Given the description of an element on the screen output the (x, y) to click on. 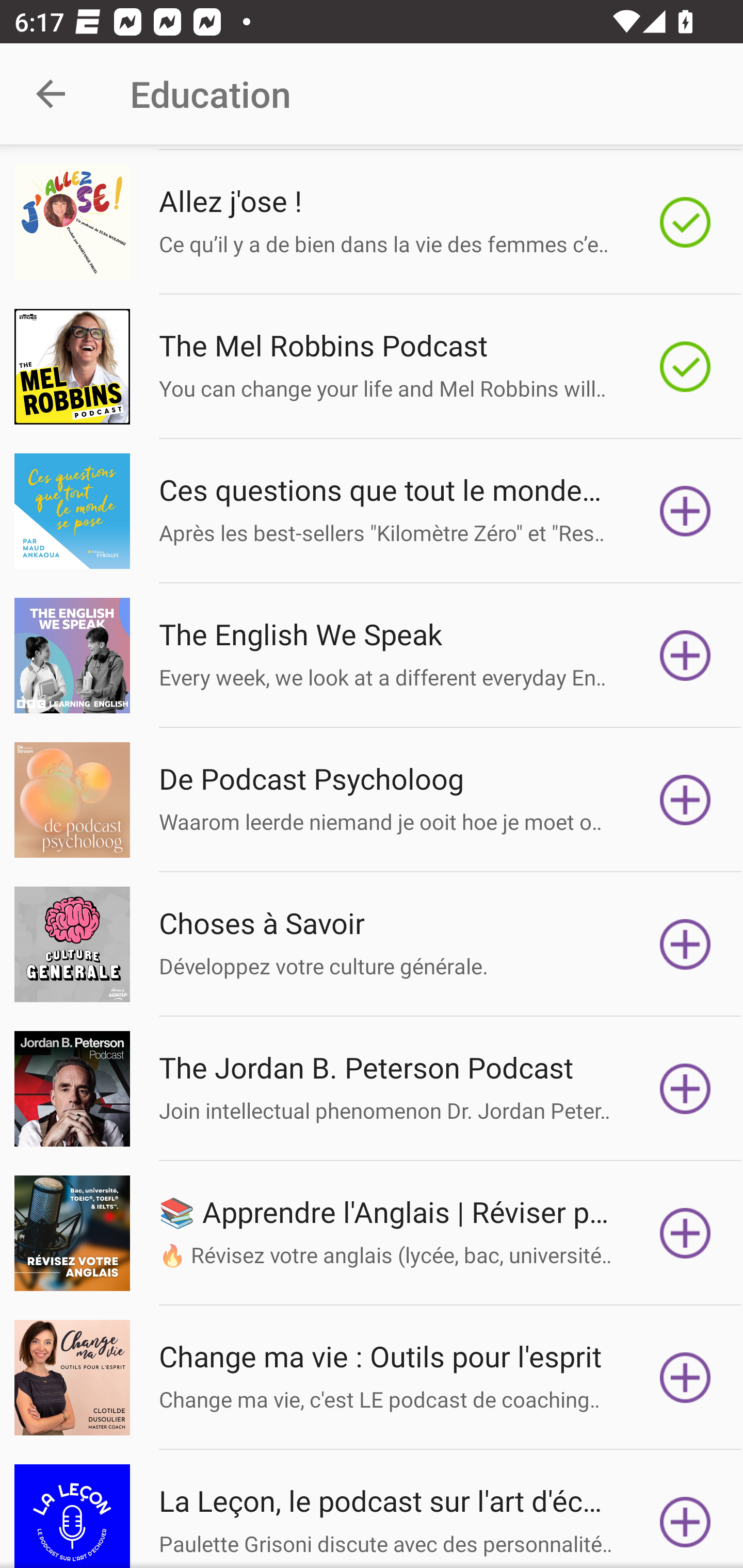
Navigate up (50, 93)
Subscribed (685, 222)
Subscribed (685, 366)
Subscribe (685, 511)
Subscribe (685, 655)
Subscribe (685, 799)
Subscribe (685, 943)
Subscribe (685, 1088)
Subscribe (685, 1233)
Subscribe (685, 1377)
Subscribe (685, 1516)
